Given the description of an element on the screen output the (x, y) to click on. 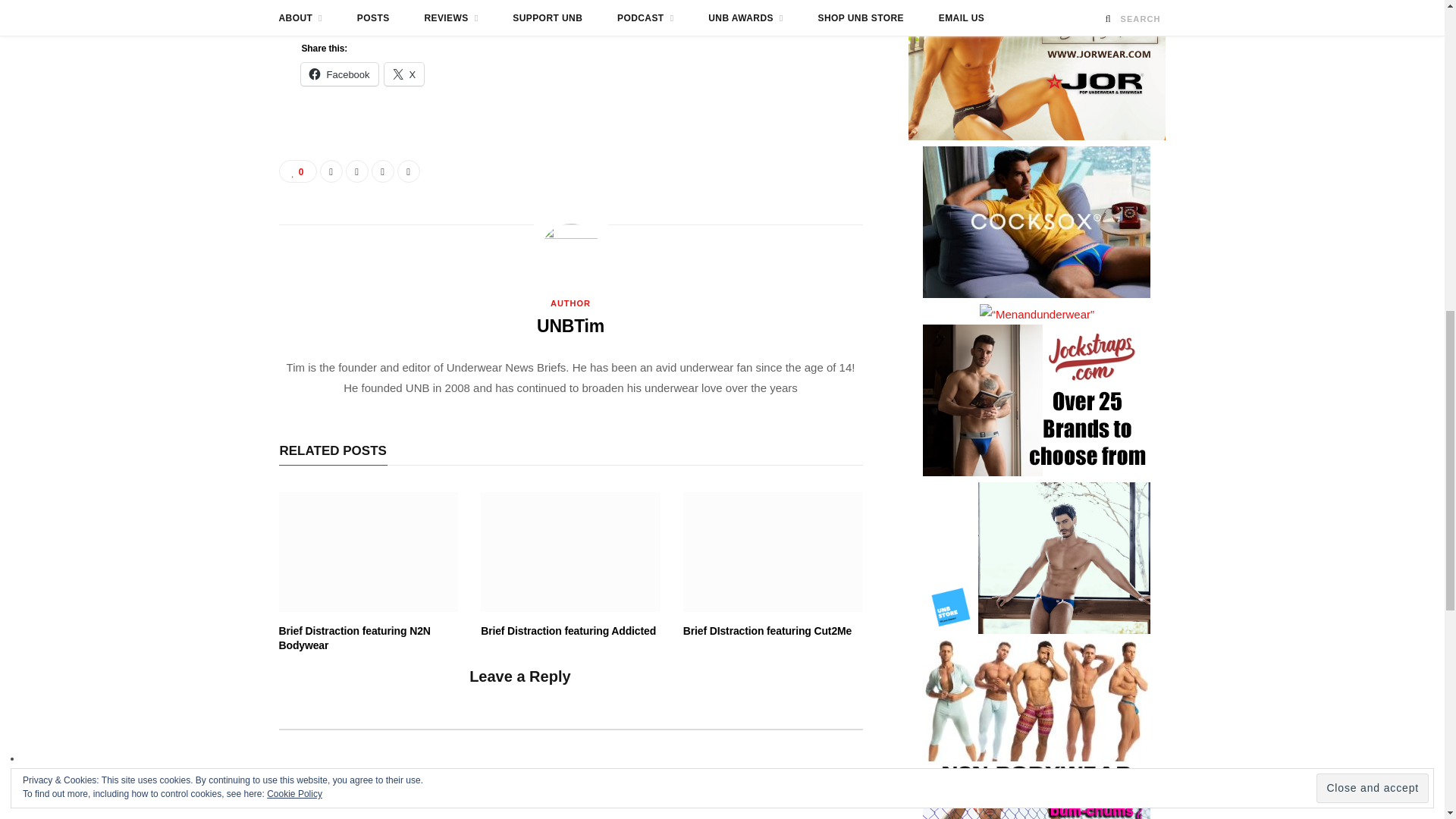
Click to share on Facebook (339, 74)
Click to share on X (404, 74)
Brief DIstraction featuring Cut2Me (772, 551)
Brief Distraction featuring N2N Bodywear (368, 551)
Email (408, 170)
Brief Distraction featuring Addicted (570, 551)
Posts by UNBTim (570, 325)
Share on Twitter (357, 170)
Pinterest (382, 170)
Share on Facebook (331, 170)
